Given the description of an element on the screen output the (x, y) to click on. 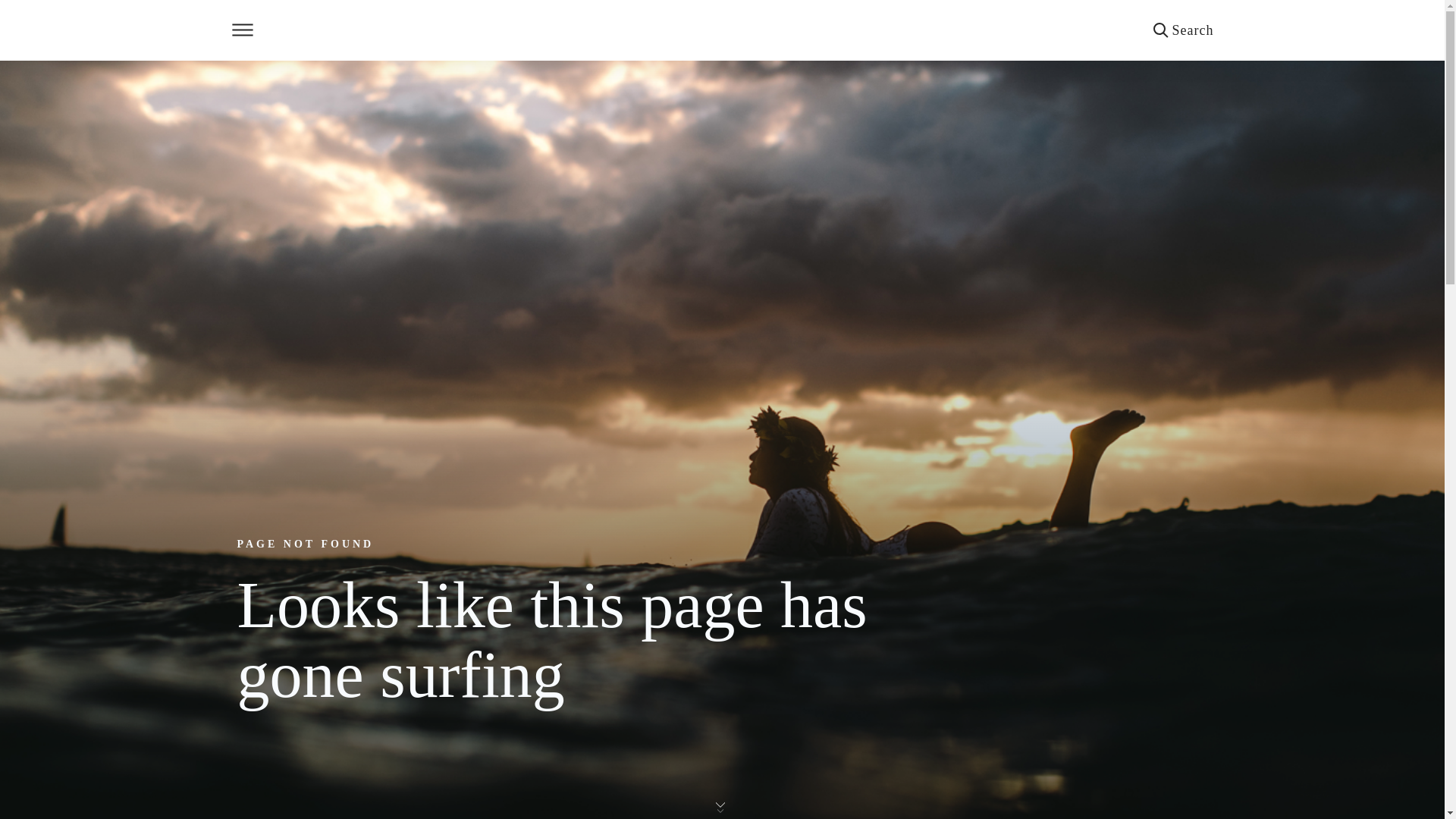
Search (1183, 30)
